Given the description of an element on the screen output the (x, y) to click on. 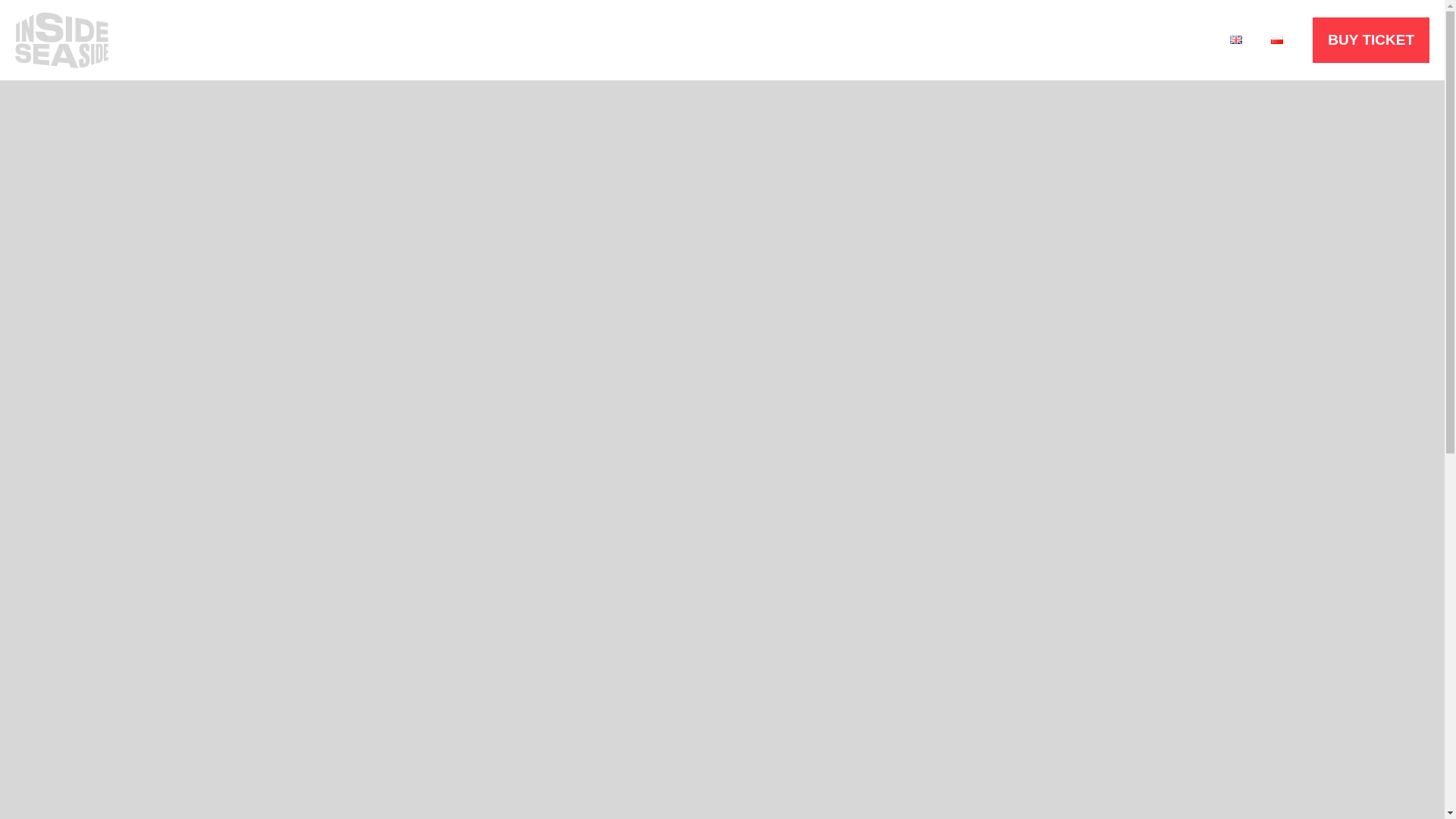
BUY TICKET (1371, 39)
2023 (1043, 39)
FAQ (1104, 39)
Contact (1174, 39)
Artists (976, 39)
News (905, 39)
